Given the description of an element on the screen output the (x, y) to click on. 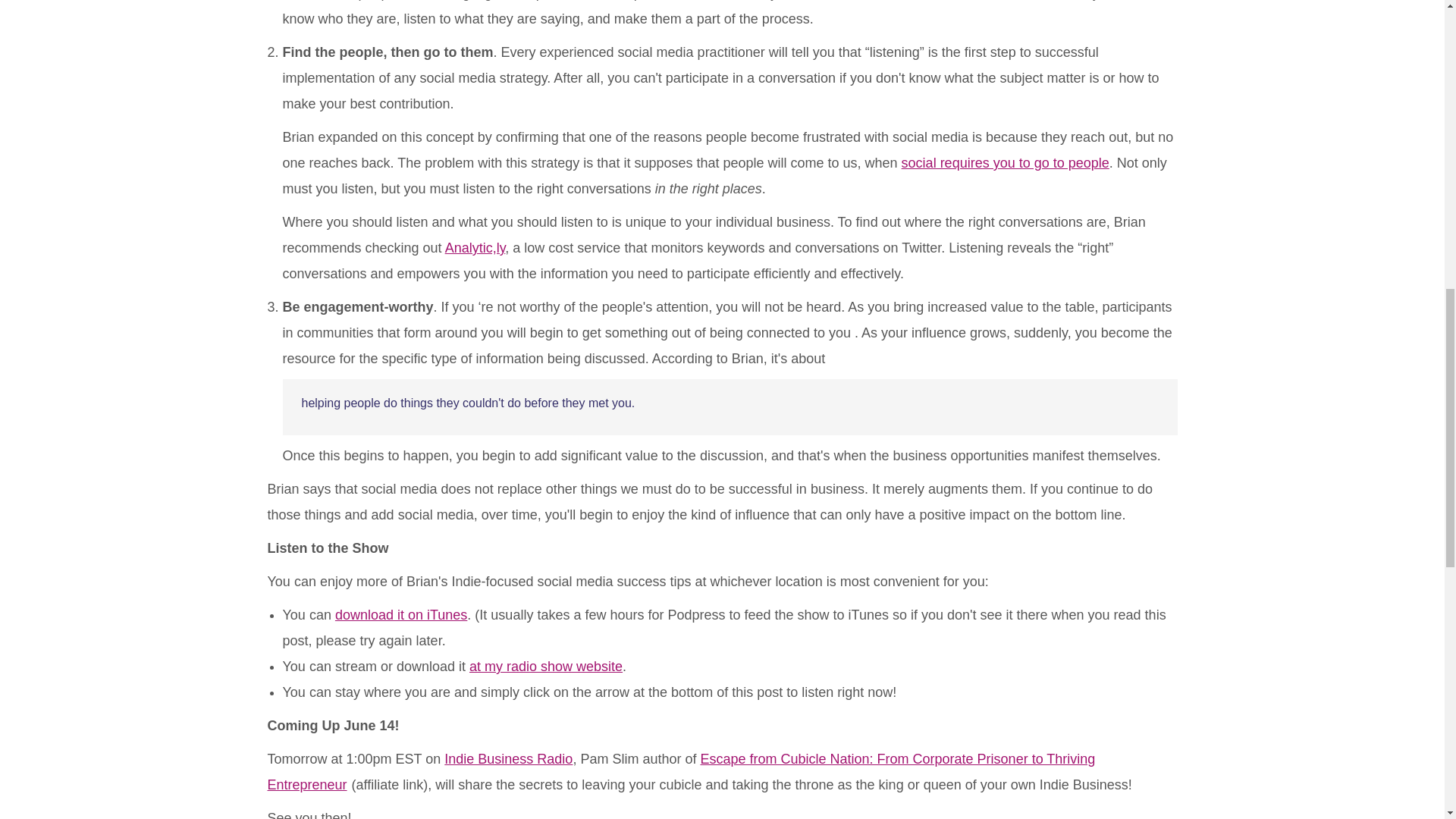
Analytic,ly (475, 247)
download it on iTunes (400, 614)
social requires you to go to people (1005, 162)
Indie Business Radio (508, 758)
at my radio show website (545, 666)
